Given the description of an element on the screen output the (x, y) to click on. 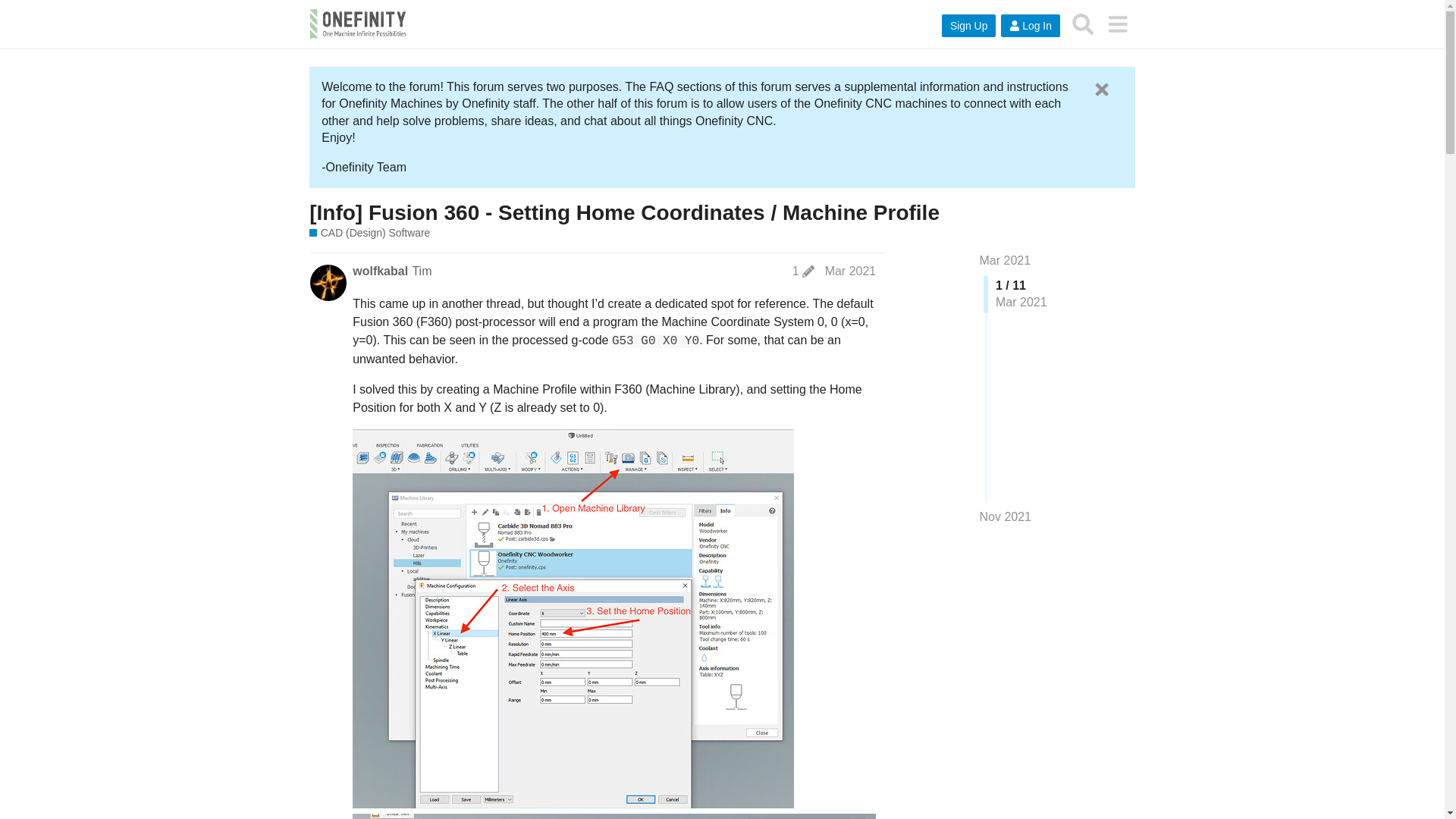
Mar 2021 (850, 270)
Jump to the first post (1004, 259)
wolfkabal (379, 271)
Jump to the last post (1005, 516)
1 (802, 271)
Log In (1030, 25)
Post date (850, 270)
post last edited on Mar 3, 2021 10:32 pm (802, 271)
Sign Up (968, 25)
Search (1082, 23)
Tim (421, 270)
Dismiss this banner (1101, 88)
Mar 2021 (1004, 259)
menu (1117, 23)
Nov 2021 (1005, 516)
